Given the description of an element on the screen output the (x, y) to click on. 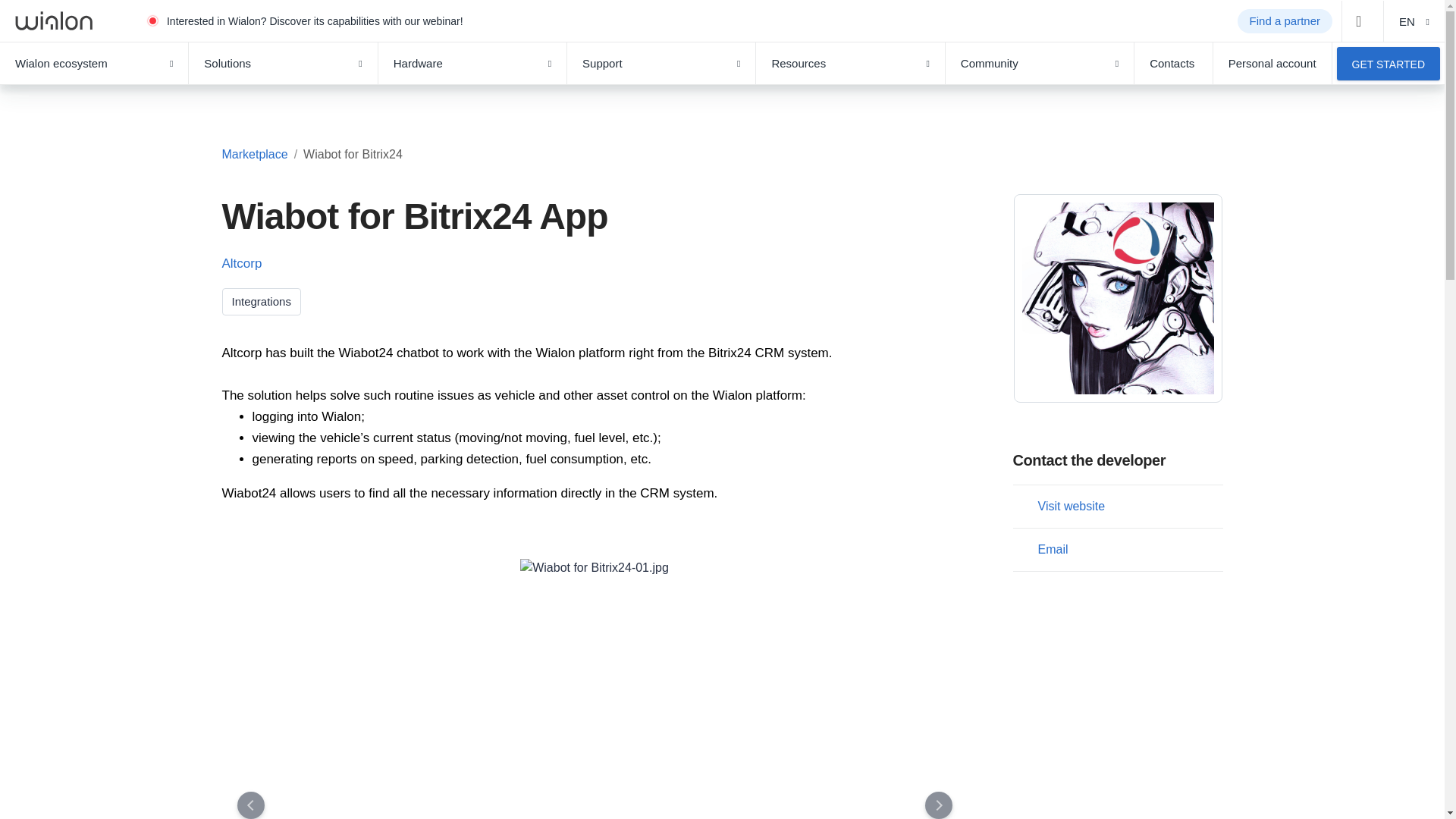
Contacts (1173, 63)
GET STARTED (1387, 63)
Personal account (1272, 63)
Find a partner (1284, 21)
